Given the description of an element on the screen output the (x, y) to click on. 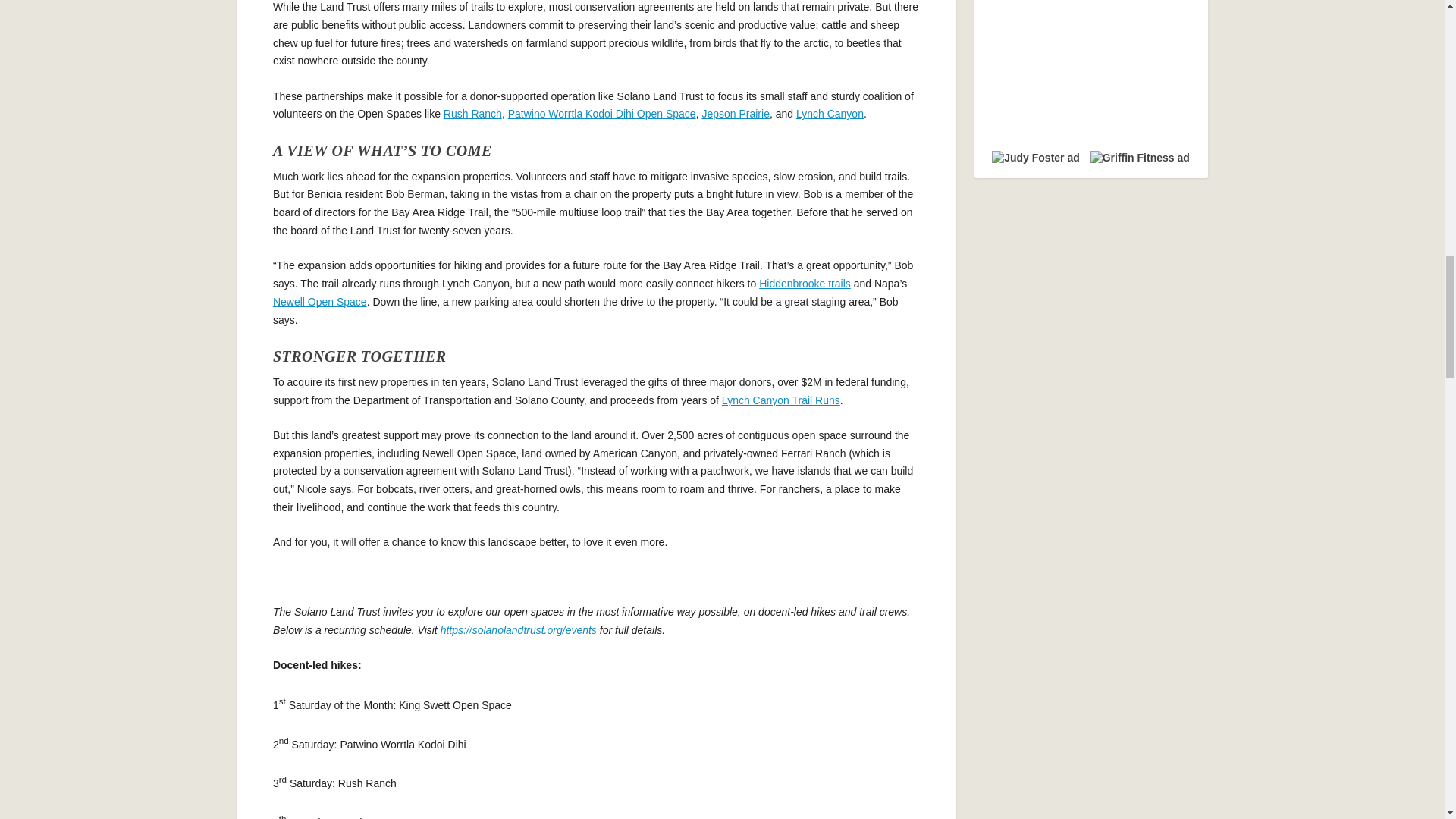
Patwino Worrtla Kodoi Dihi Open Space (601, 113)
Rush Ranch (473, 113)
Jepson Prairie (735, 113)
Lynch Canyon (829, 113)
